Given the description of an element on the screen output the (x, y) to click on. 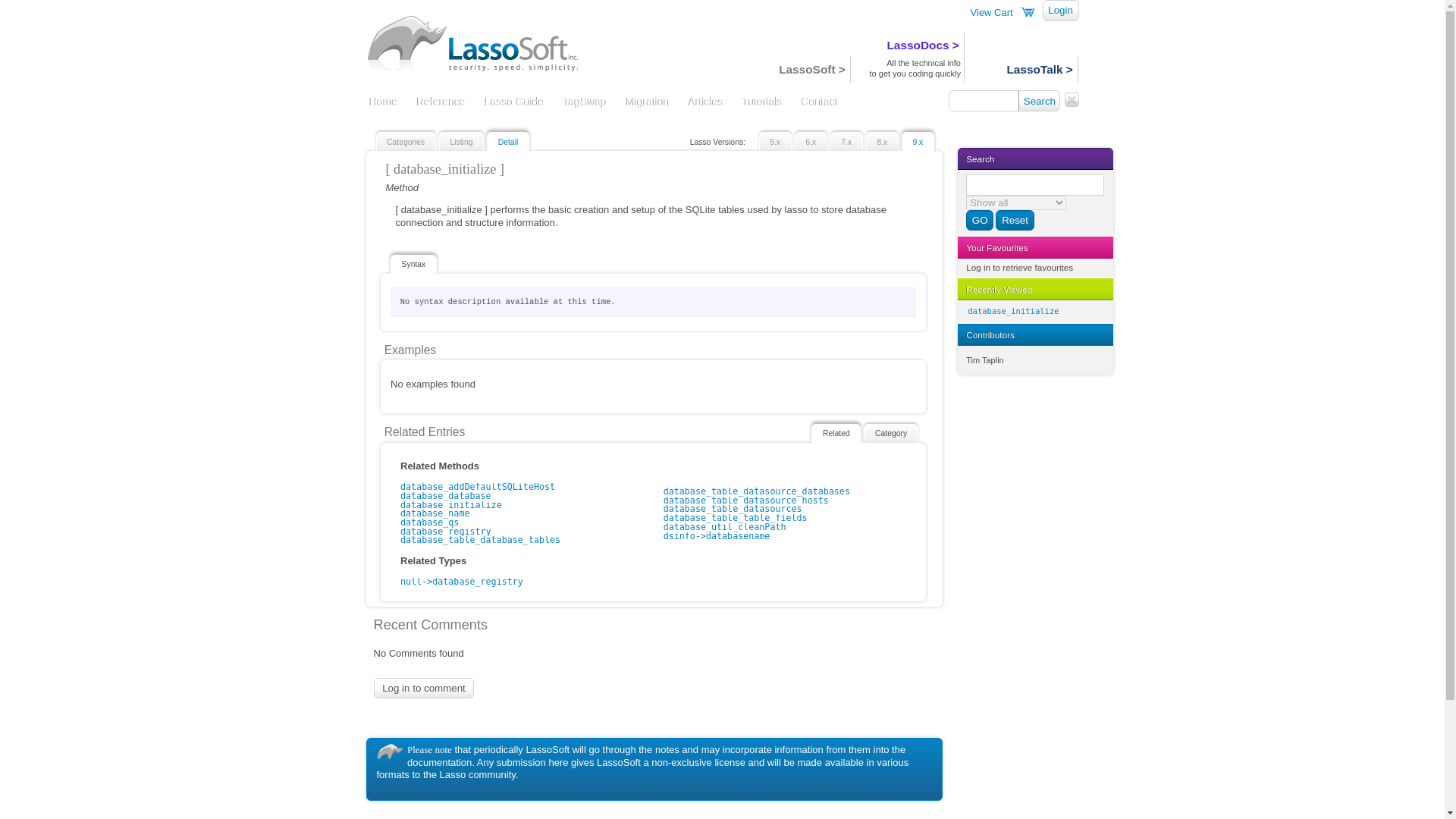
Reference (441, 103)
Lasso Guide (514, 103)
Search (1038, 100)
Reset (1014, 219)
Login (1060, 10)
Return to the LassoDocs Home Page (383, 103)
Language Reference (441, 103)
View Cart (992, 12)
Return to the Lasso Soft Home Page (478, 41)
Clear Search (1070, 99)
Lasso Language Guide (514, 103)
GO (979, 219)
Search (1038, 100)
Home (383, 103)
